Given the description of an element on the screen output the (x, y) to click on. 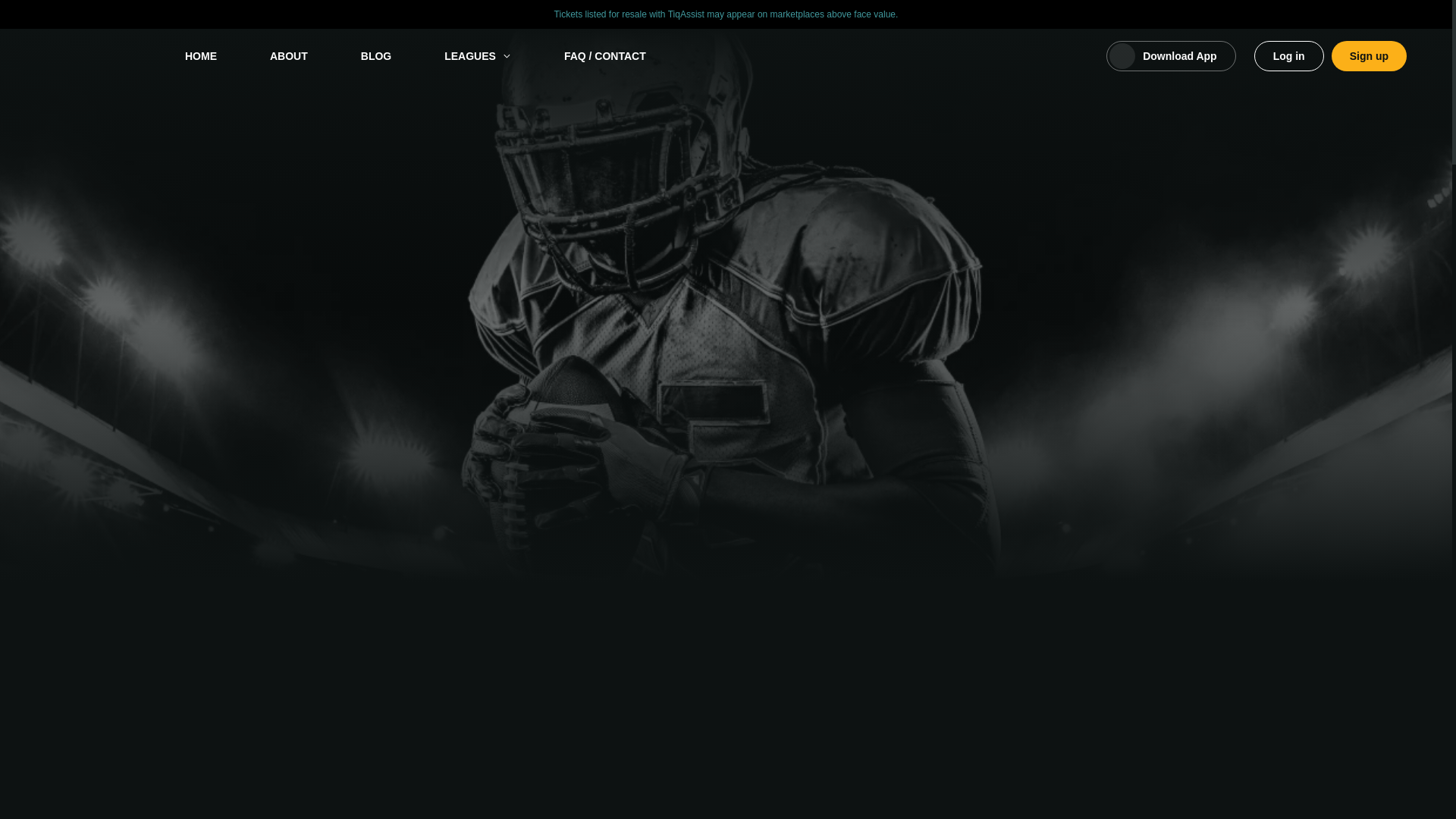
BLOG (376, 56)
HOME (200, 56)
Sign up (1369, 55)
LEAGUES (477, 56)
ABOUT (288, 56)
Download App (1170, 55)
Log in (1288, 55)
